Given the description of an element on the screen output the (x, y) to click on. 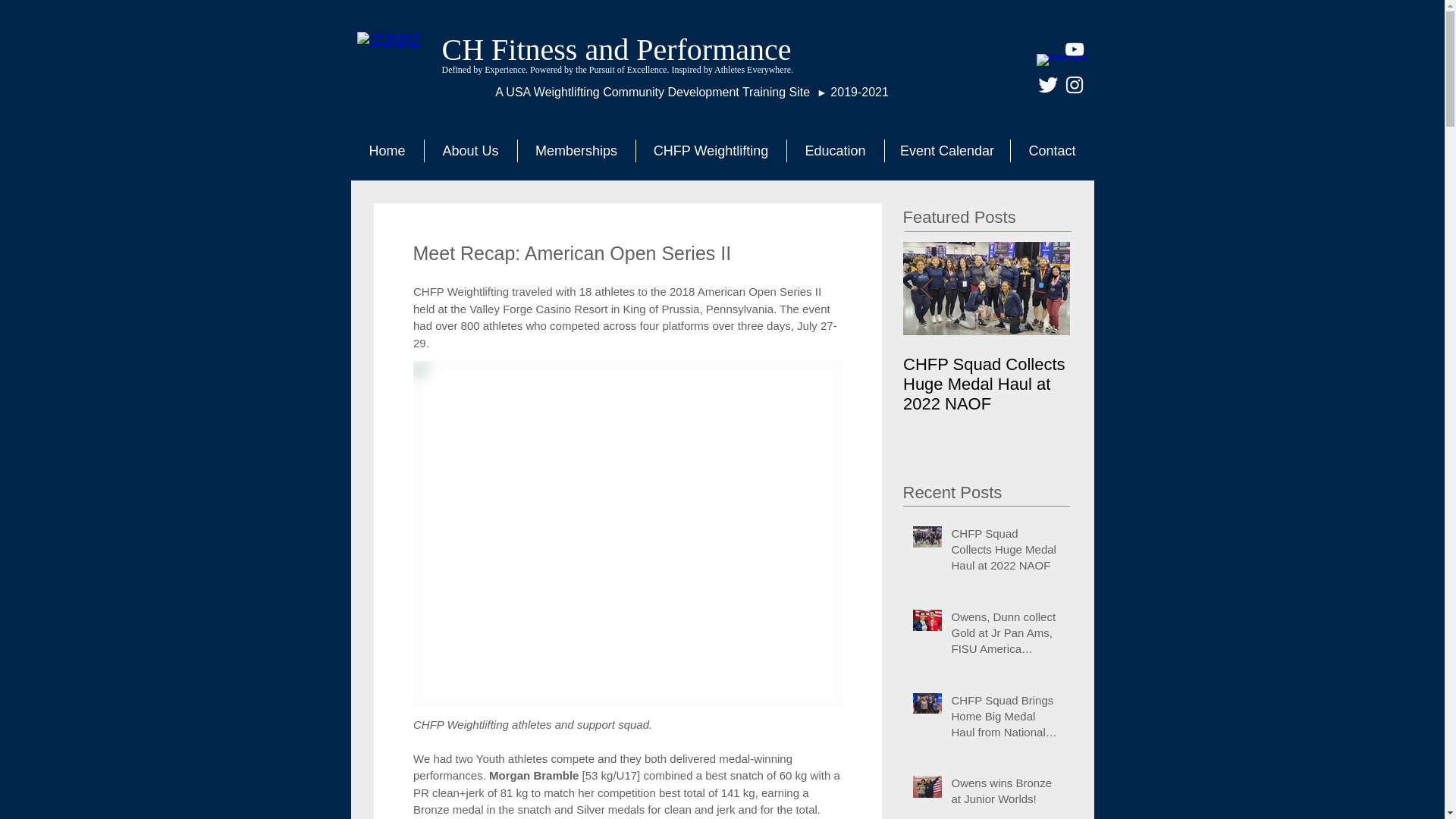
CH Fitness and Performance (615, 49)
Memberships (575, 150)
CHFP Weightlifting (710, 150)
Contact (1052, 150)
Home (386, 150)
About Us (469, 150)
CHFP Squad Brings Home Big Medal Haul from Nationals Week (1319, 384)
Education (834, 150)
Owens, Dunn collect Gold at Jr Pan Ams, FISU America Games (1152, 384)
CHFP Squad Collects Huge Medal Haul at 2022 NAOF (985, 384)
Event Calendar (946, 150)
